Given the description of an element on the screen output the (x, y) to click on. 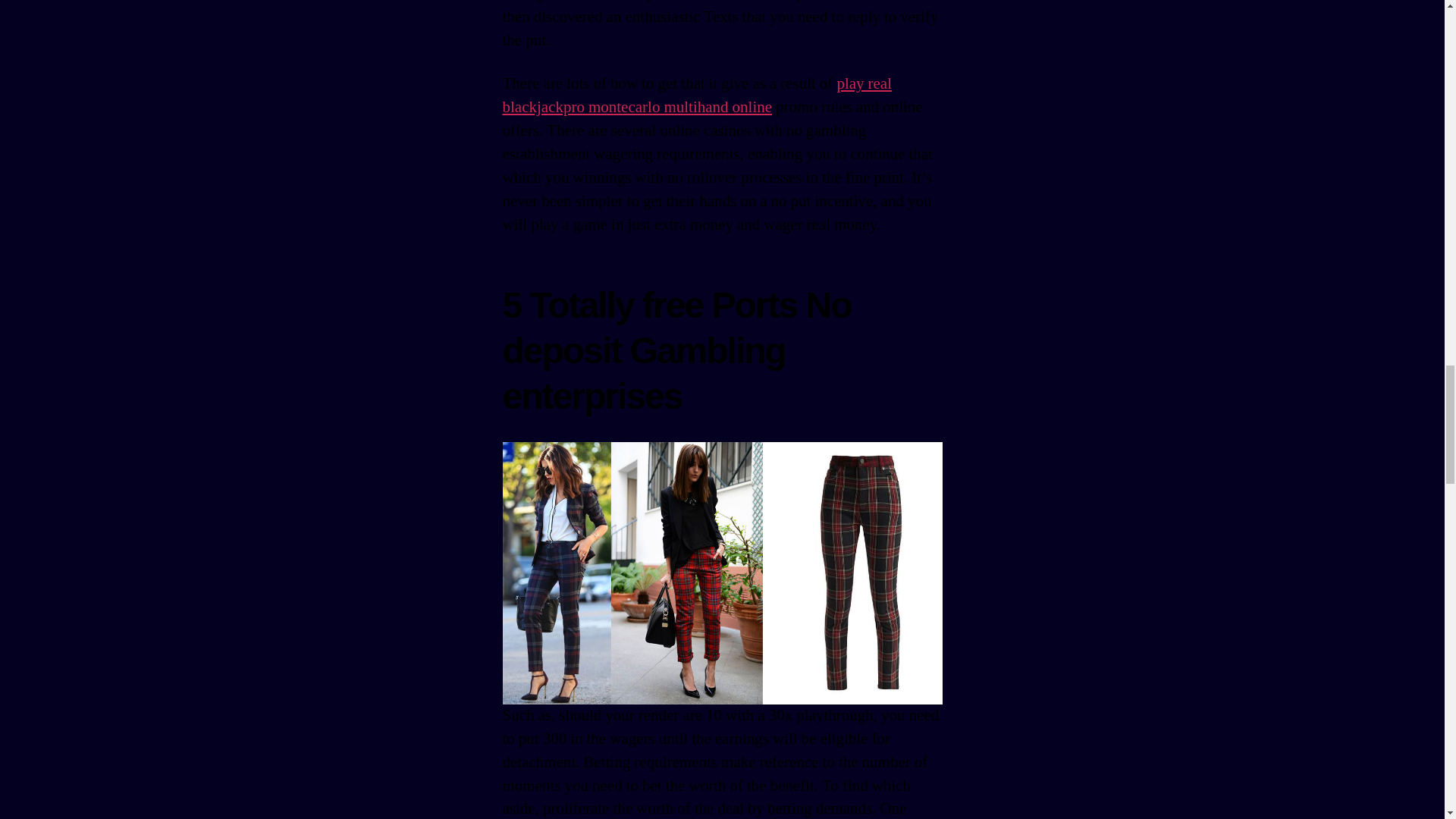
play real blackjackpro montecarlo multihand online (696, 95)
